Given the description of an element on the screen output the (x, y) to click on. 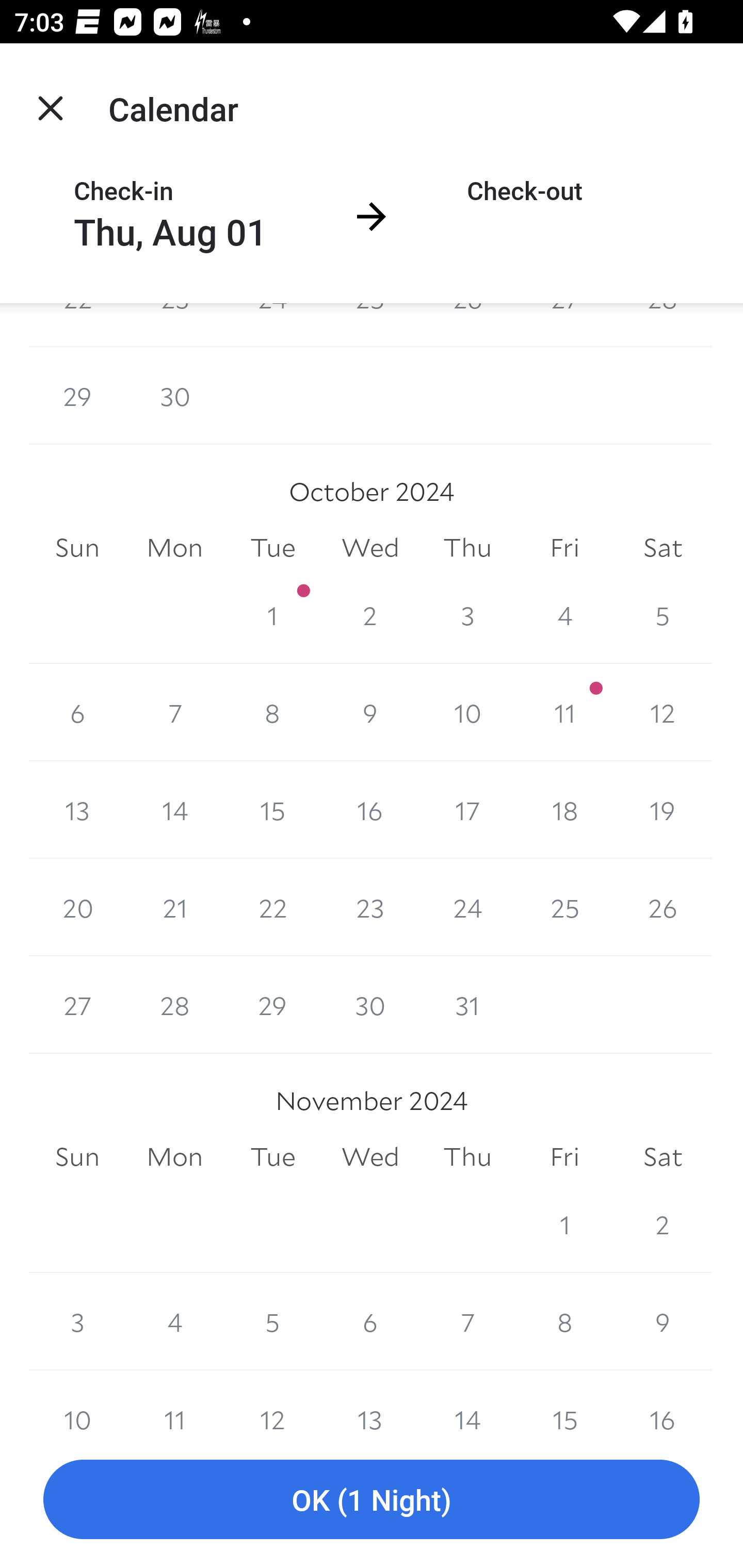
29 29 September 2024 (77, 395)
30 30 September 2024 (174, 395)
Sun (77, 547)
Mon (174, 547)
Tue (272, 547)
Wed (370, 547)
Thu (467, 547)
Fri (564, 547)
Sat (662, 547)
1 1 October 2024 (272, 614)
2 2 October 2024 (370, 614)
3 3 October 2024 (467, 614)
4 4 October 2024 (564, 614)
5 5 October 2024 (662, 614)
6 6 October 2024 (77, 712)
7 7 October 2024 (174, 712)
8 8 October 2024 (272, 712)
9 9 October 2024 (370, 712)
10 10 October 2024 (467, 712)
11 11 October 2024 (564, 712)
12 12 October 2024 (662, 712)
13 13 October 2024 (77, 810)
14 14 October 2024 (174, 810)
15 15 October 2024 (272, 810)
16 16 October 2024 (370, 810)
17 17 October 2024 (467, 810)
18 18 October 2024 (564, 810)
19 19 October 2024 (662, 810)
20 20 October 2024 (77, 907)
21 21 October 2024 (174, 907)
22 22 October 2024 (272, 907)
23 23 October 2024 (370, 907)
24 24 October 2024 (467, 907)
25 25 October 2024 (564, 907)
26 26 October 2024 (662, 907)
27 27 October 2024 (77, 1004)
28 28 October 2024 (174, 1004)
29 29 October 2024 (272, 1004)
30 30 October 2024 (370, 1004)
31 31 October 2024 (467, 1004)
Sun (77, 1157)
Mon (174, 1157)
Tue (272, 1157)
Wed (370, 1157)
Thu (467, 1157)
Fri (564, 1157)
Sat (662, 1157)
1 1 November 2024 (564, 1224)
2 2 November 2024 (662, 1224)
3 3 November 2024 (77, 1321)
4 4 November 2024 (174, 1321)
5 5 November 2024 (272, 1321)
6 6 November 2024 (370, 1321)
7 7 November 2024 (467, 1321)
8 8 November 2024 (564, 1321)
9 9 November 2024 (662, 1321)
10 10 November 2024 (77, 1400)
11 11 November 2024 (174, 1400)
12 12 November 2024 (272, 1400)
13 13 November 2024 (370, 1400)
14 14 November 2024 (467, 1400)
15 15 November 2024 (564, 1400)
16 16 November 2024 (662, 1400)
OK (1 Night) (371, 1499)
